Given the description of an element on the screen output the (x, y) to click on. 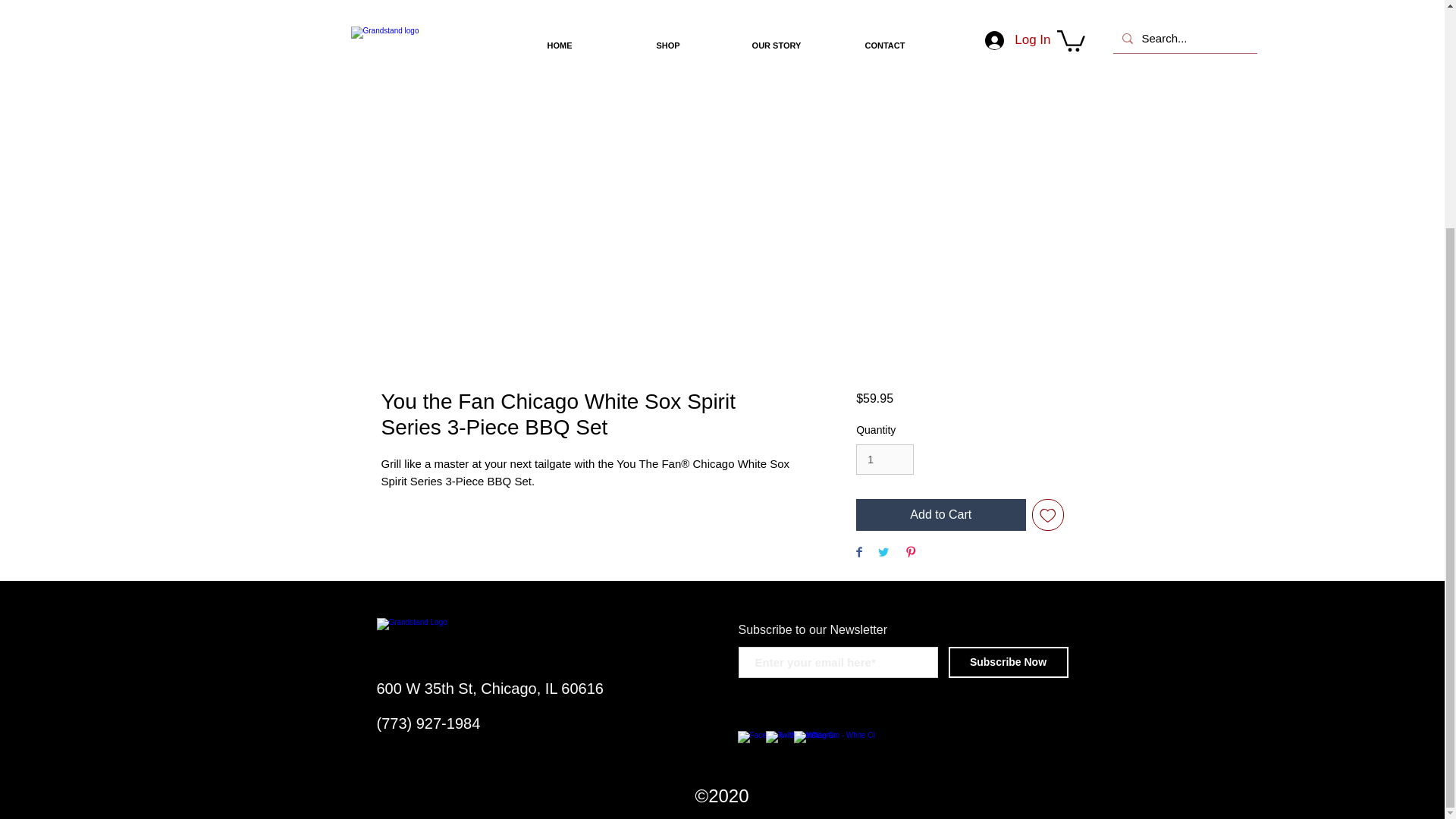
Add to Cart (940, 514)
1 (885, 459)
600 W 35th St, Chicago, IL 60616 (488, 688)
Subscribe Now (1007, 662)
